Given the description of an element on the screen output the (x, y) to click on. 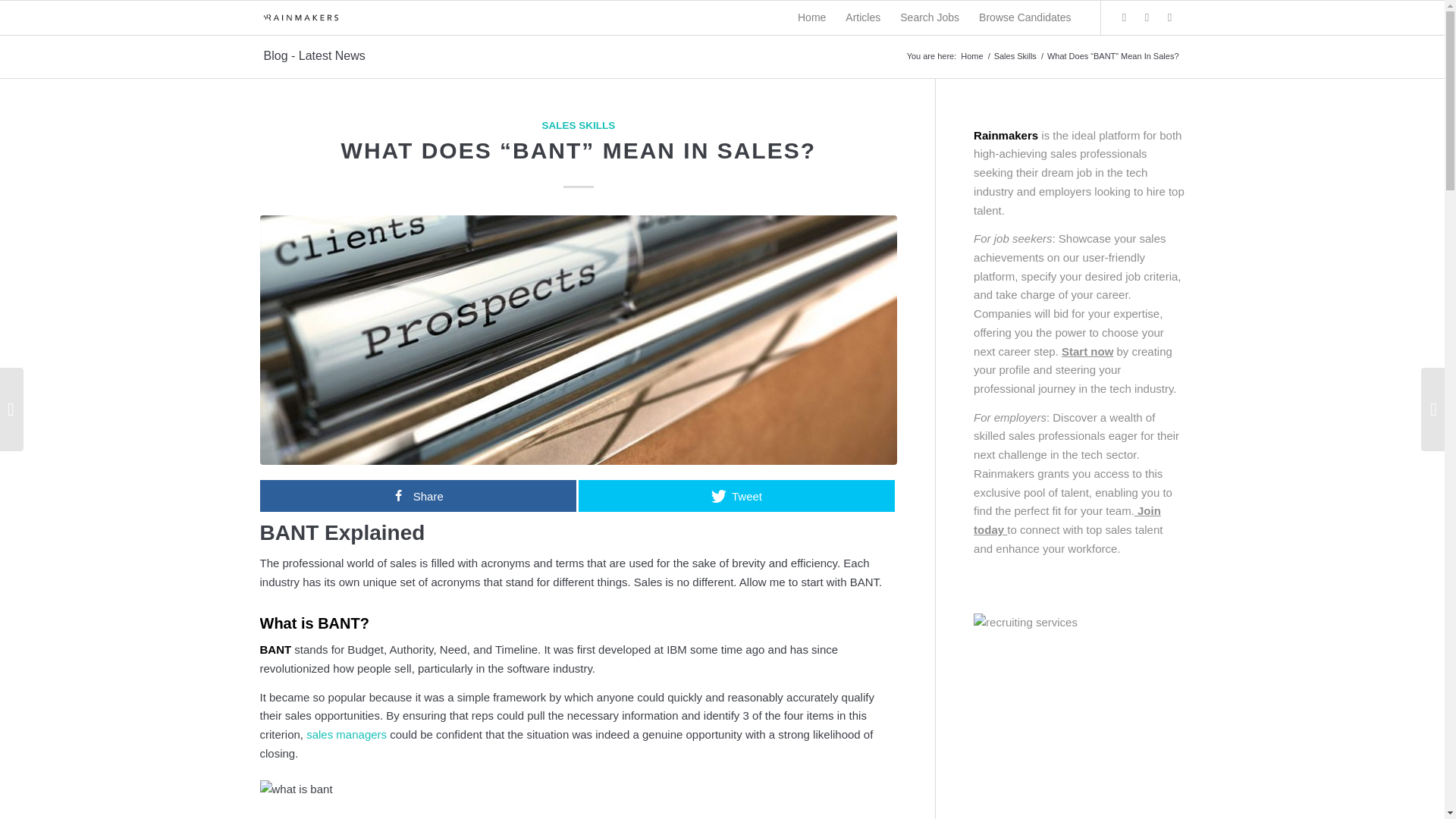
Facebook (1146, 16)
SALES SKILLS (577, 125)
LinkedIn (1169, 16)
Browse Candidates (1024, 17)
Home (971, 56)
Articles (862, 17)
Share (417, 495)
Blog - Latest News (314, 55)
Permanent Link: Blog - Latest News (314, 55)
Search Jobs (929, 17)
